Given the description of an element on the screen output the (x, y) to click on. 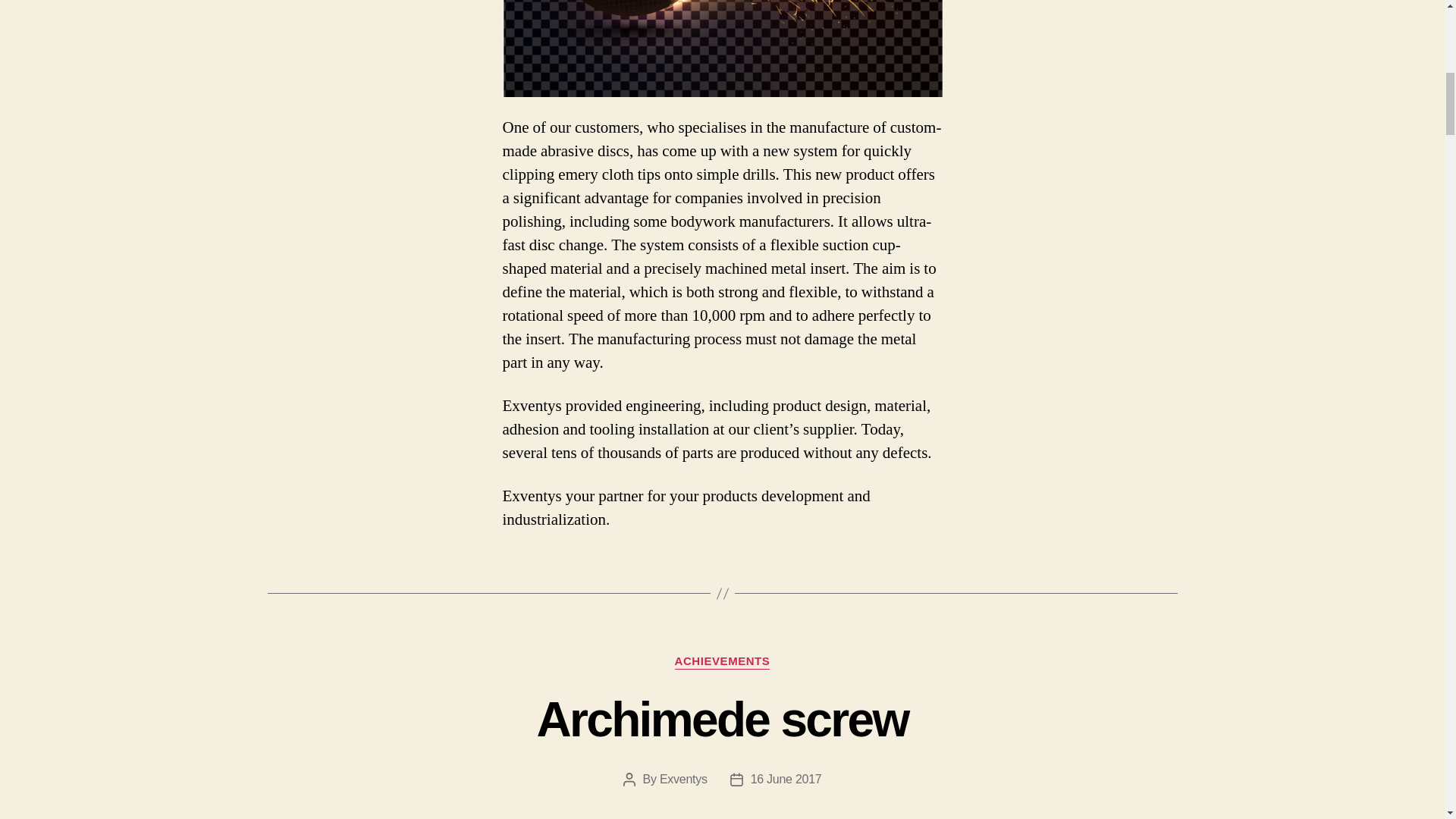
Exventys (683, 779)
16 June 2017 (786, 779)
ACHIEVEMENTS (722, 661)
Archimede screw (721, 719)
